Given the description of an element on the screen output the (x, y) to click on. 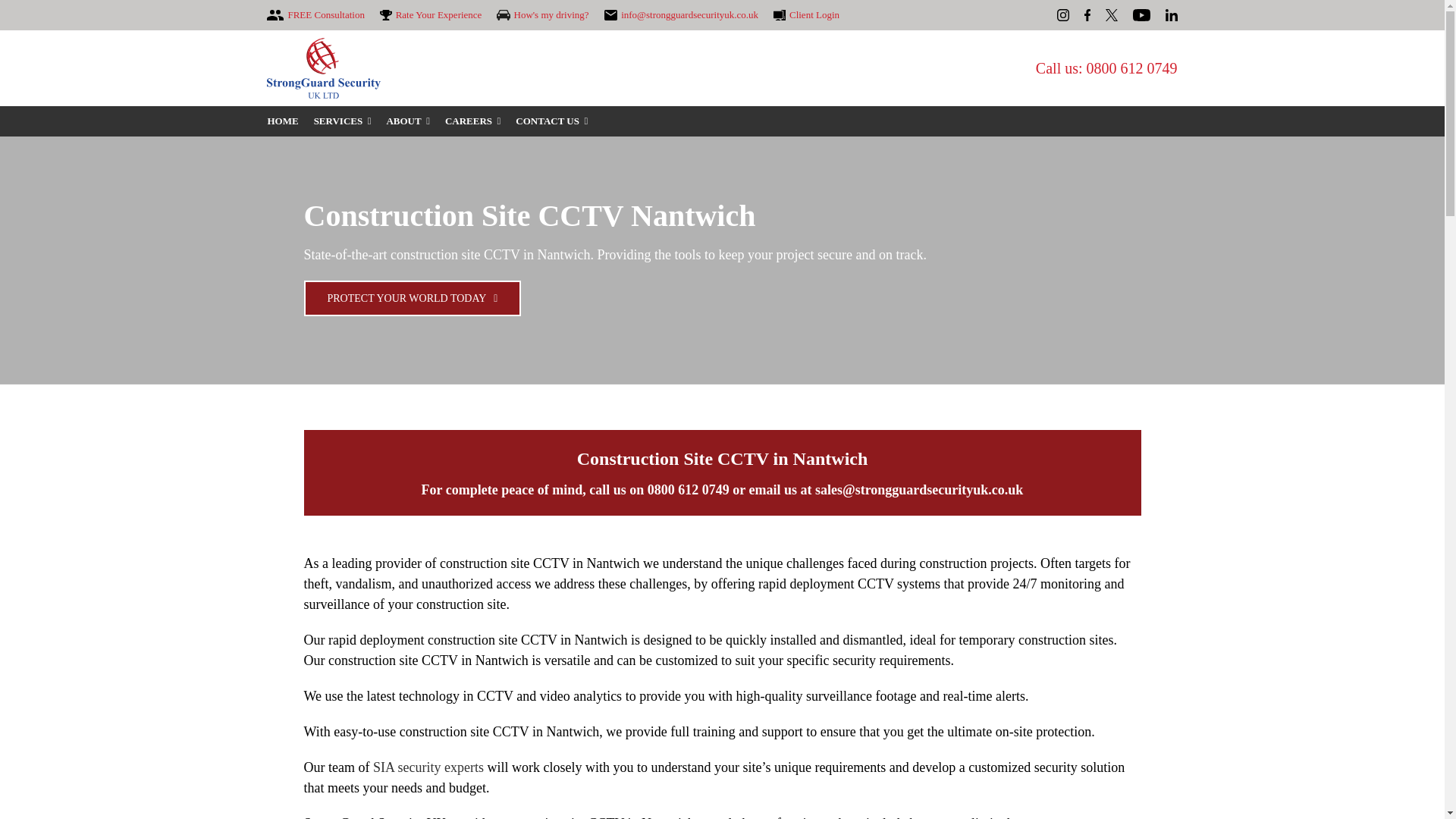
Rate Your Experience (430, 14)
How's my driving? (542, 14)
Call us: 0800 612 0749 (1106, 67)
FREE Consultation (315, 14)
Client Login (806, 14)
